Given the description of an element on the screen output the (x, y) to click on. 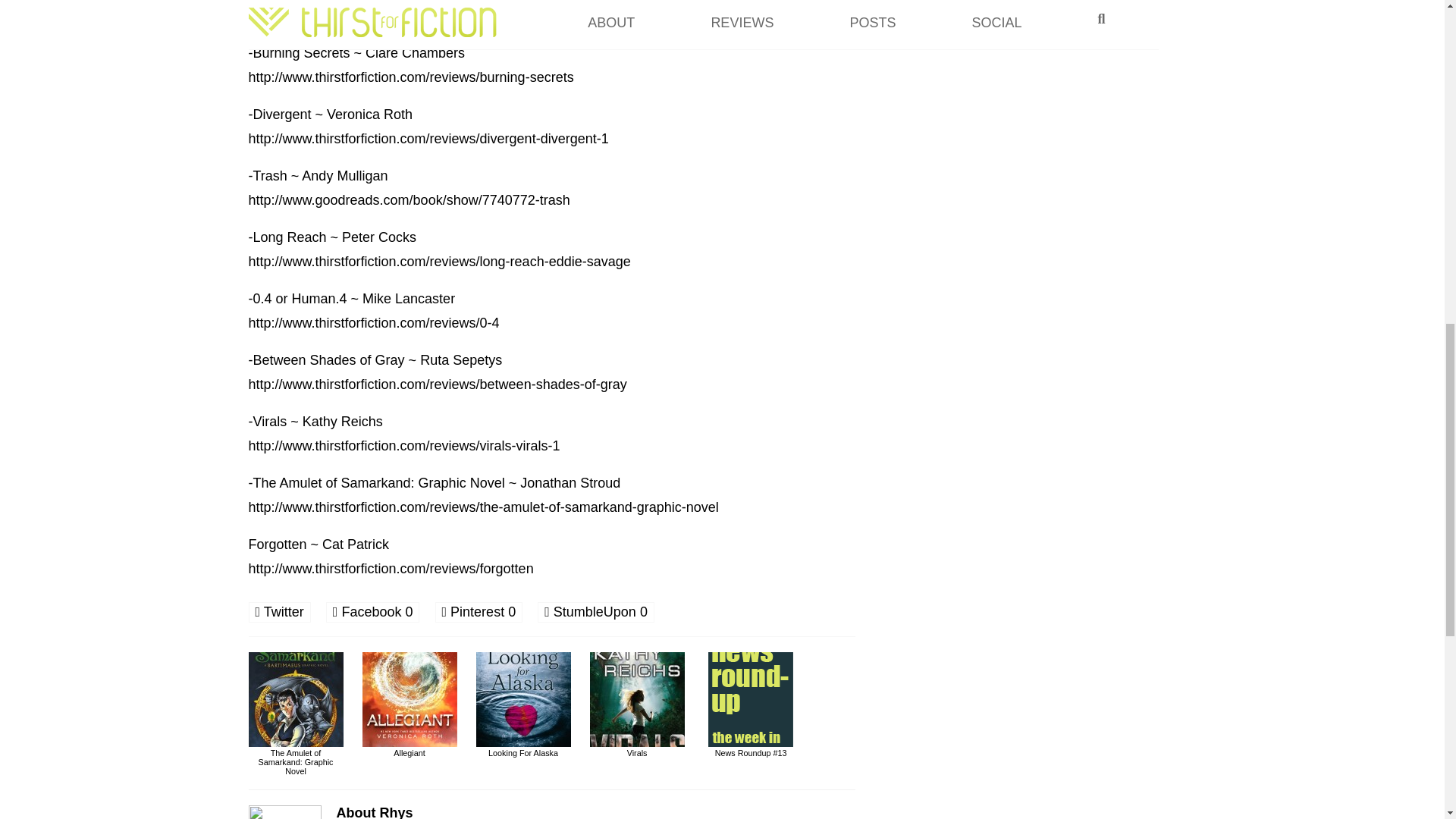
Virals (636, 748)
Looking For Alaska (523, 748)
The Amulet of Samarkand: Graphic Novel (295, 757)
Facebook 0 (373, 611)
Pinterest 0 (478, 611)
Looking For Alaska (523, 748)
StumbleUpon 0 (595, 611)
Allegiant (409, 748)
Twitter (279, 611)
The Amulet of Samarkand: Graphic Novel (295, 757)
